Given the description of an element on the screen output the (x, y) to click on. 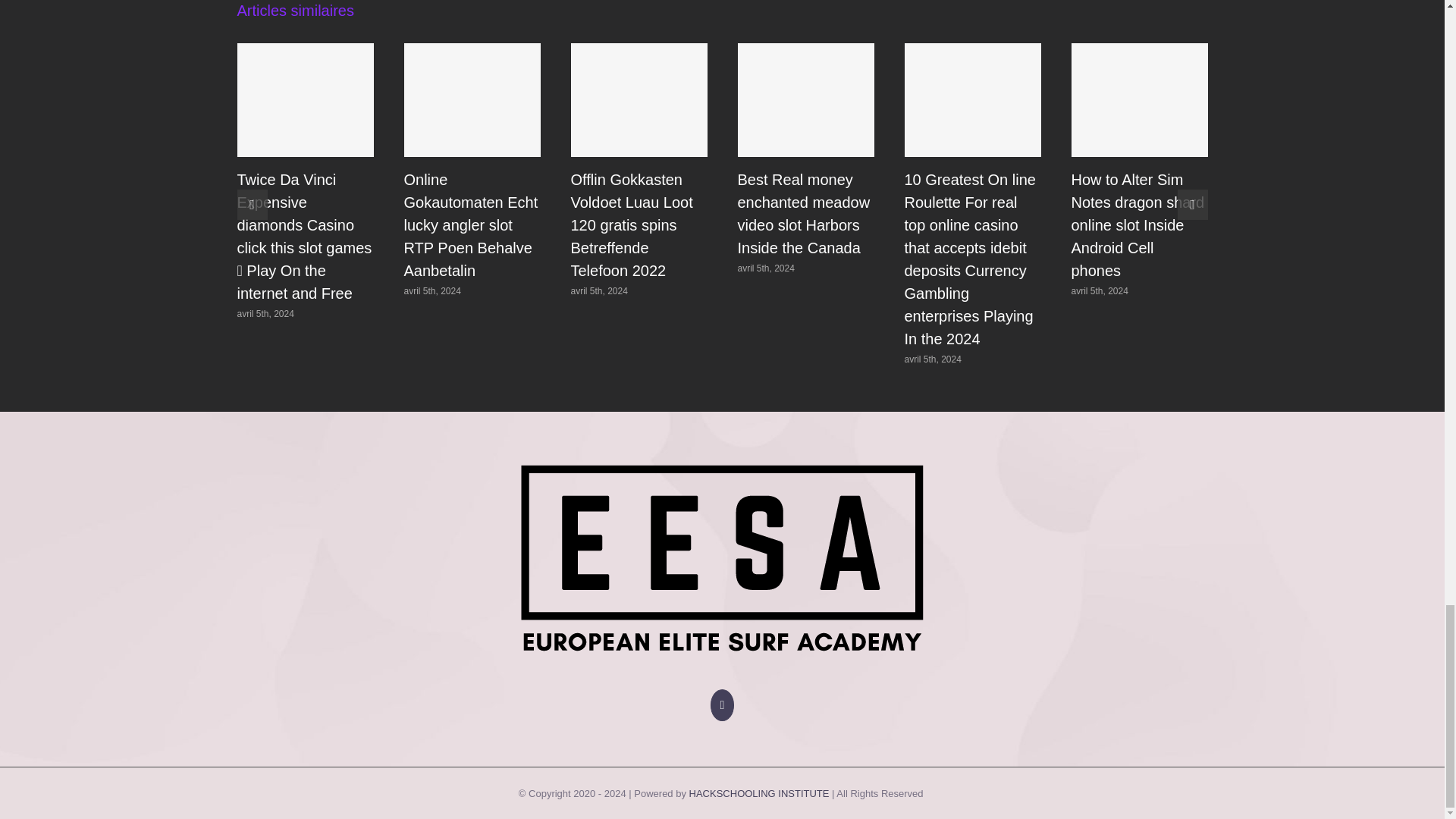
HACKSCHOOLING INSTITUTE (758, 793)
